Given the description of an element on the screen output the (x, y) to click on. 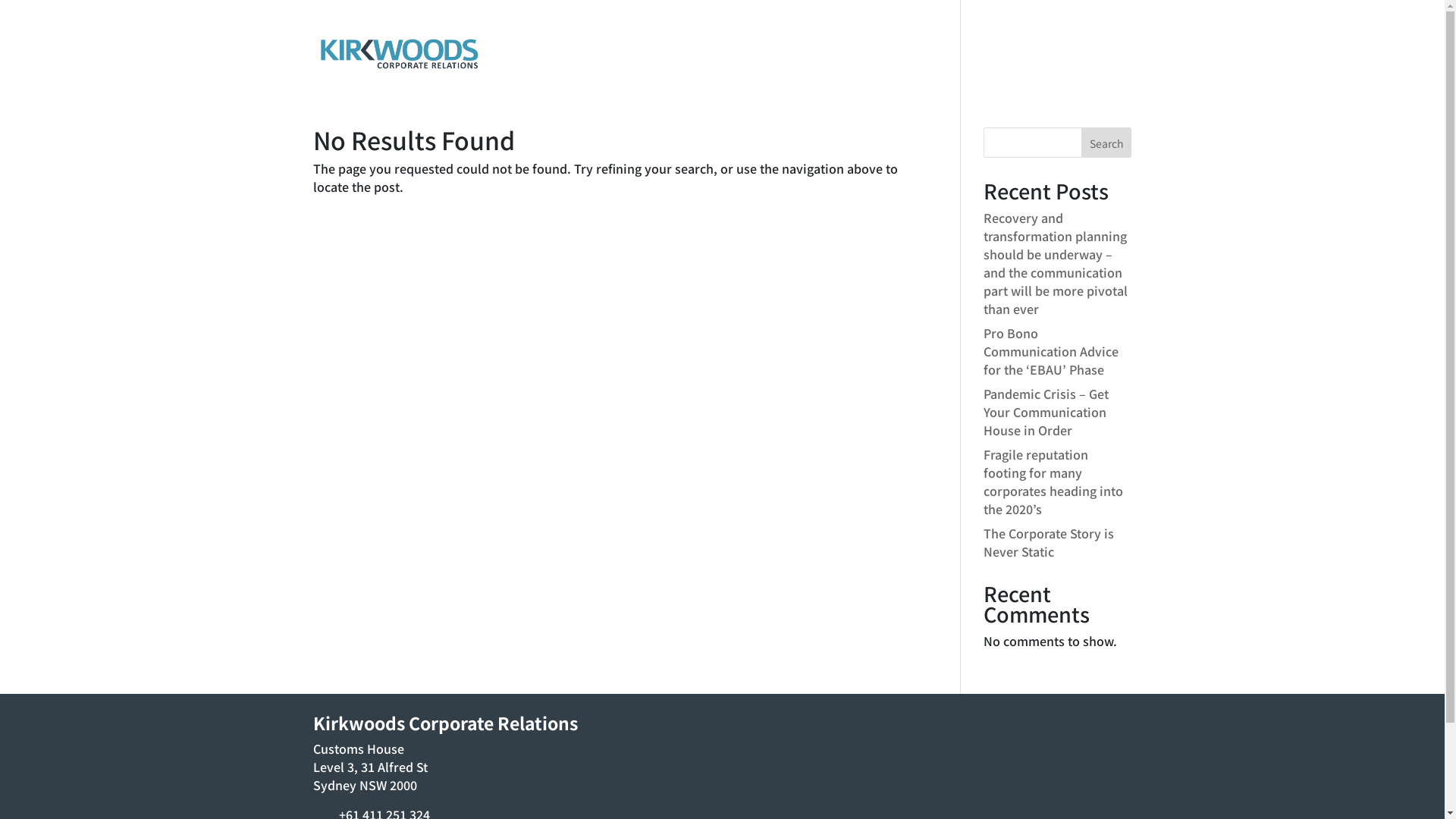
justin@kirkwoods.com.au Element type: text (485, 12)
Clients Element type: text (968, 65)
Network Element type: text (903, 65)
Services Element type: text (837, 65)
The Corporate Story is Never Static Element type: text (1048, 542)
Contact Element type: text (1109, 65)
+61 411 251 324 Element type: text (364, 12)
Search Element type: text (1106, 142)
Home Element type: text (776, 65)
